Given the description of an element on the screen output the (x, y) to click on. 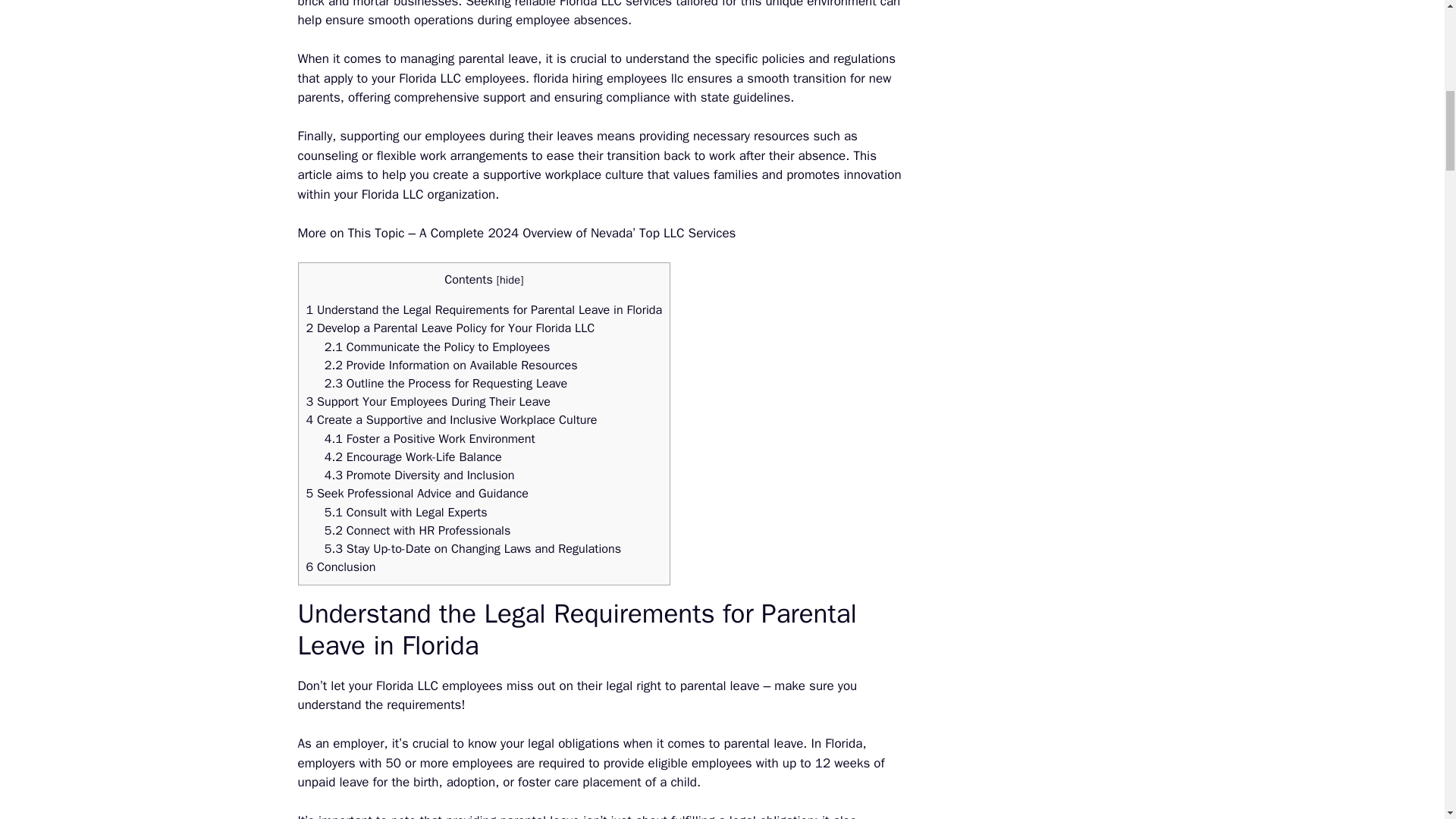
4.2 Encourage Work-Life Balance (413, 456)
4.1 Foster a Positive Work Environment (429, 438)
2.3 Outline the Process for Requesting Leave (445, 383)
5.3 Stay Up-to-Date on Changing Laws and Regulations (472, 548)
Get the Quickest LLC Services in 2023 (632, 4)
5.1 Consult with Legal Experts (405, 512)
2.1 Communicate the Policy to Employees (437, 346)
3 Support Your Employees During Their Leave (427, 401)
5.2 Connect with HR Professionals (417, 530)
hide (509, 279)
